Given the description of an element on the screen output the (x, y) to click on. 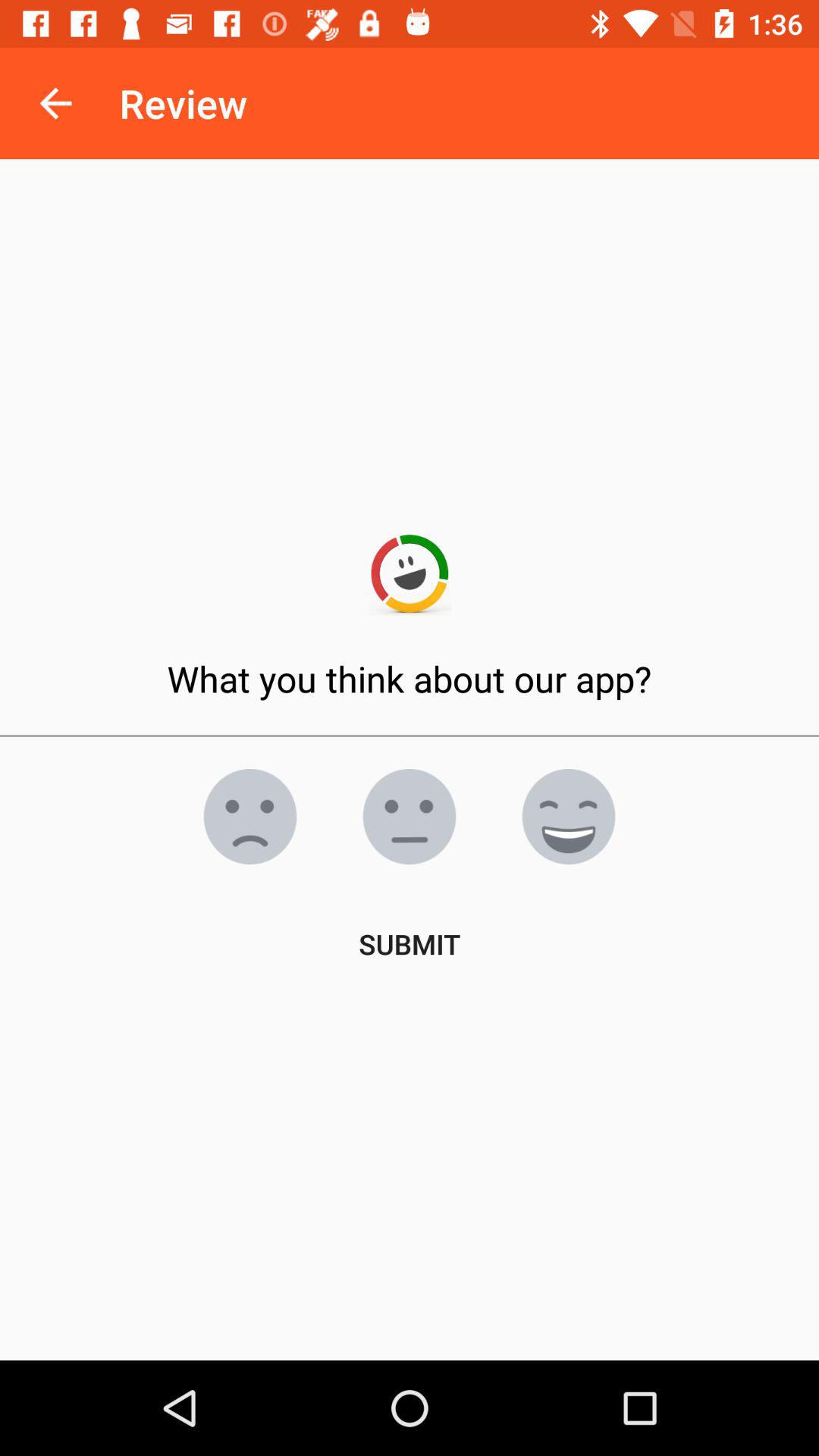
select icon to the left of review item (55, 103)
